Given the description of an element on the screen output the (x, y) to click on. 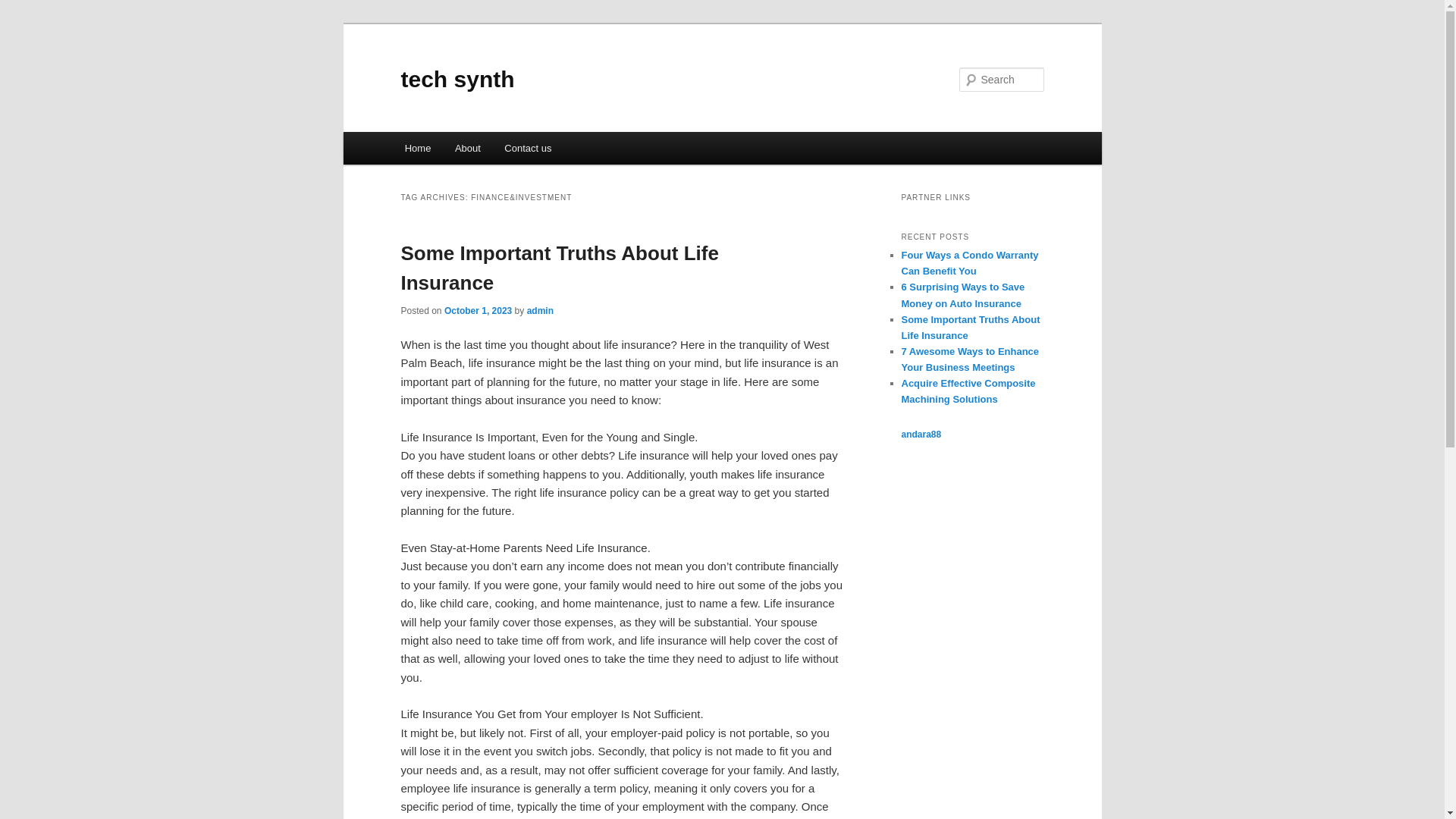
6 Surprising Ways to Save Money on Auto Insurance (963, 294)
7 Awesome Ways to Enhance Your Business Meetings (970, 359)
7 Awesome Ways to Enhance Your Business Meetings (970, 359)
7:04 pm (478, 310)
View all posts by admin (540, 310)
About (467, 147)
Some Important Truths About Life Insurance (970, 327)
6 Surprising Ways to Save Money on Auto Insurance (963, 294)
Acquire Effective Composite Machining Solutions (968, 390)
admin (540, 310)
